Given the description of an element on the screen output the (x, y) to click on. 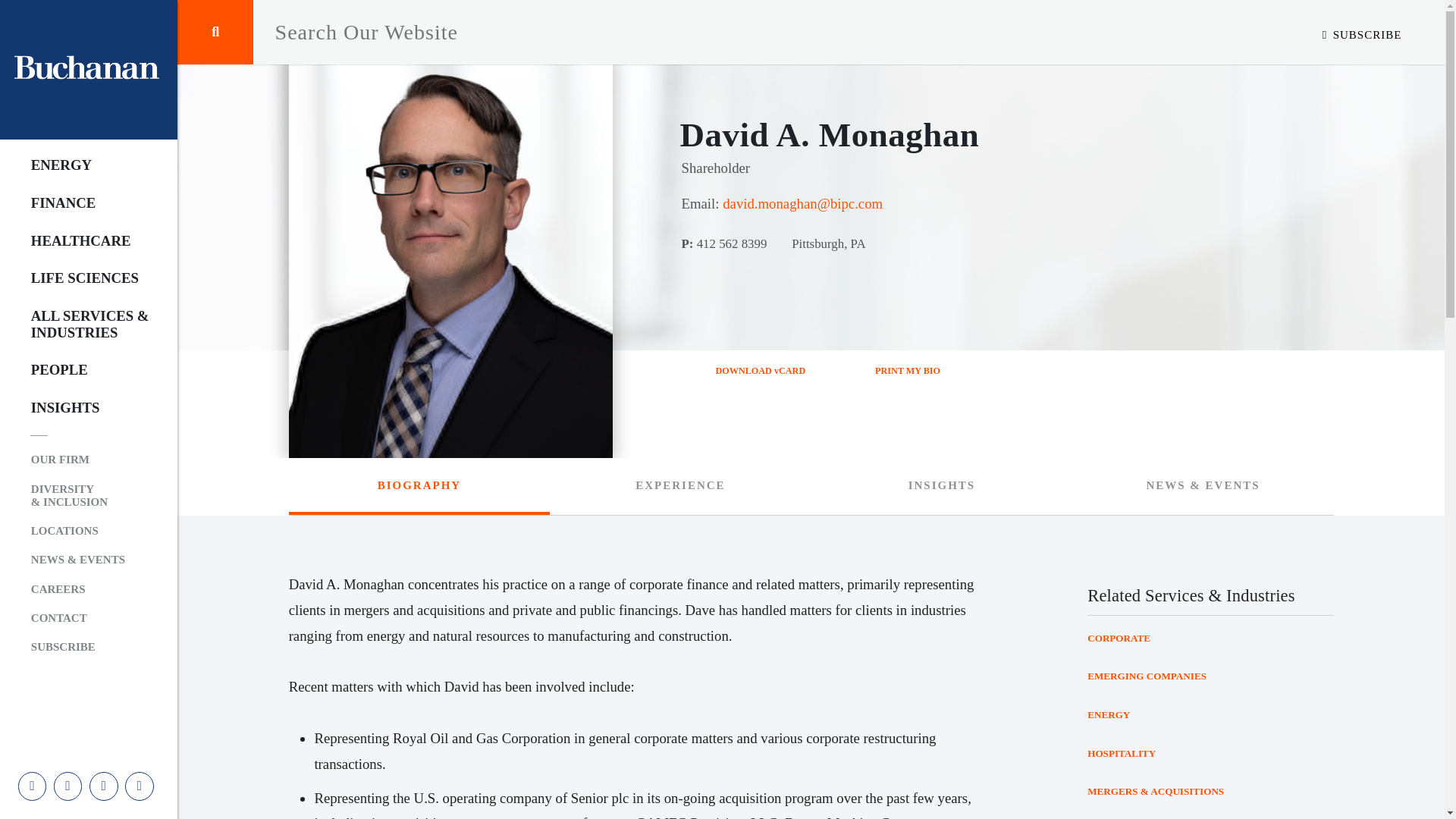
CONTACT (77, 617)
CAREERS (77, 588)
SUBSCRIBE (77, 647)
OUR FIRM (77, 460)
Click Here to Subscribe (77, 647)
HEALTHCARE (77, 240)
LOCATIONS (77, 531)
INSIGHTS (77, 407)
LIFE SCIENCES (77, 278)
PEOPLE (77, 370)
FINANCE (77, 202)
ENERGY (77, 165)
Search (215, 32)
SUBSCRIBE (1362, 34)
Click Here to Subscribe (1362, 34)
